Given the description of an element on the screen output the (x, y) to click on. 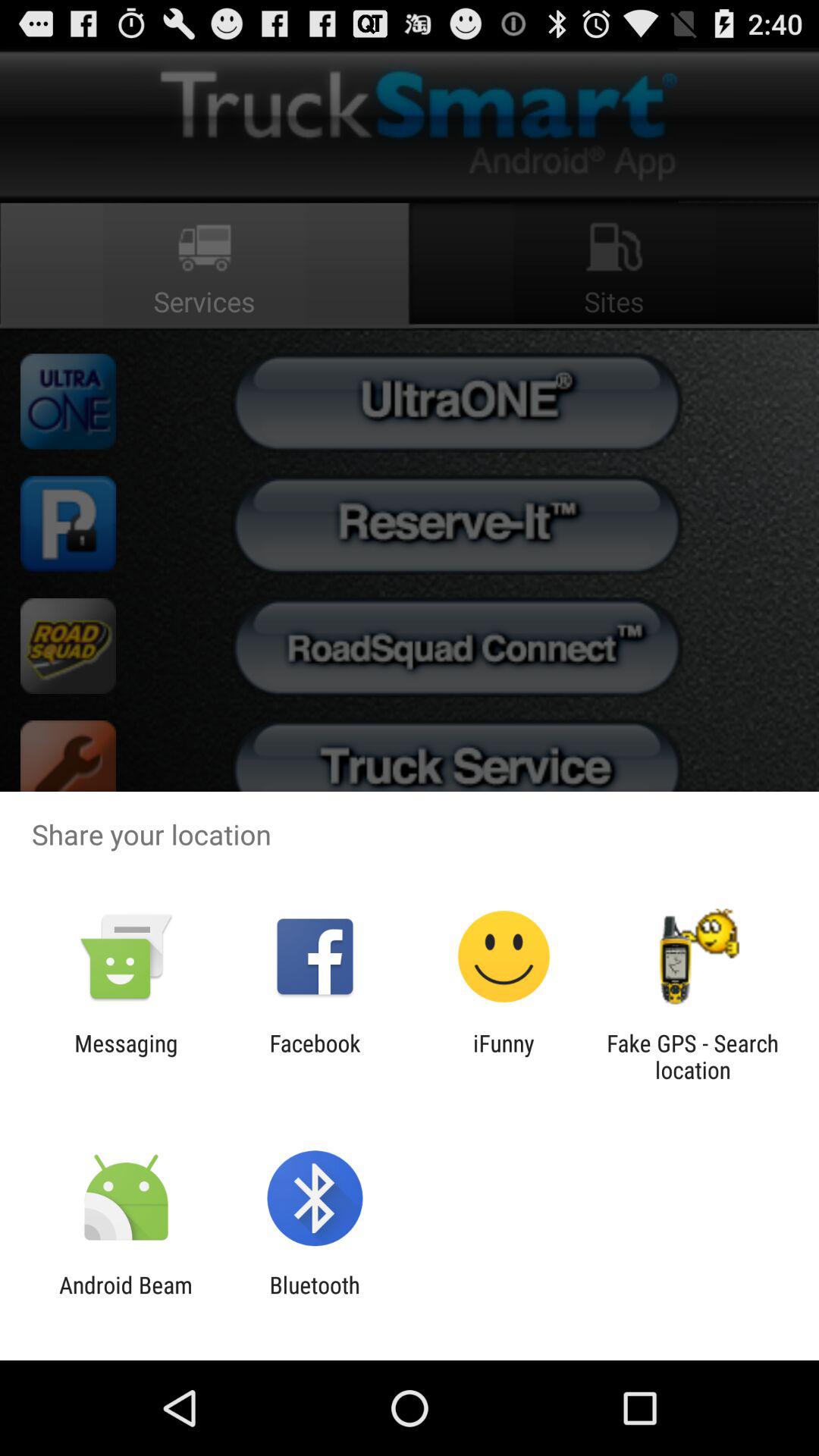
scroll to bluetooth icon (314, 1298)
